Given the description of an element on the screen output the (x, y) to click on. 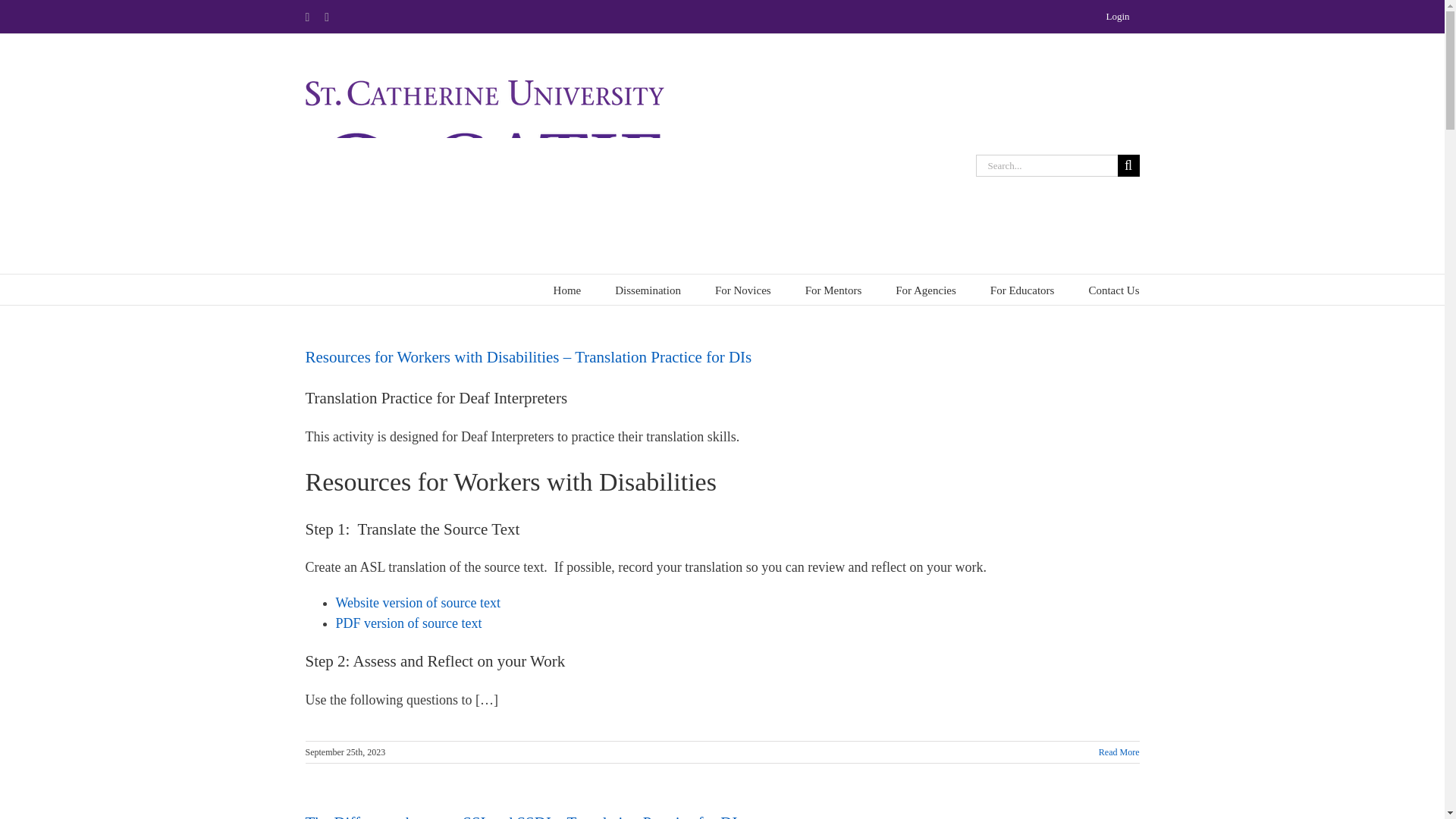
Home (566, 289)
Dissemination (647, 289)
For Agencies (925, 289)
Login (1117, 16)
For Novices (742, 289)
Contact Us (1112, 289)
For Educators (1022, 289)
For Mentors (833, 289)
